Given the description of an element on the screen output the (x, y) to click on. 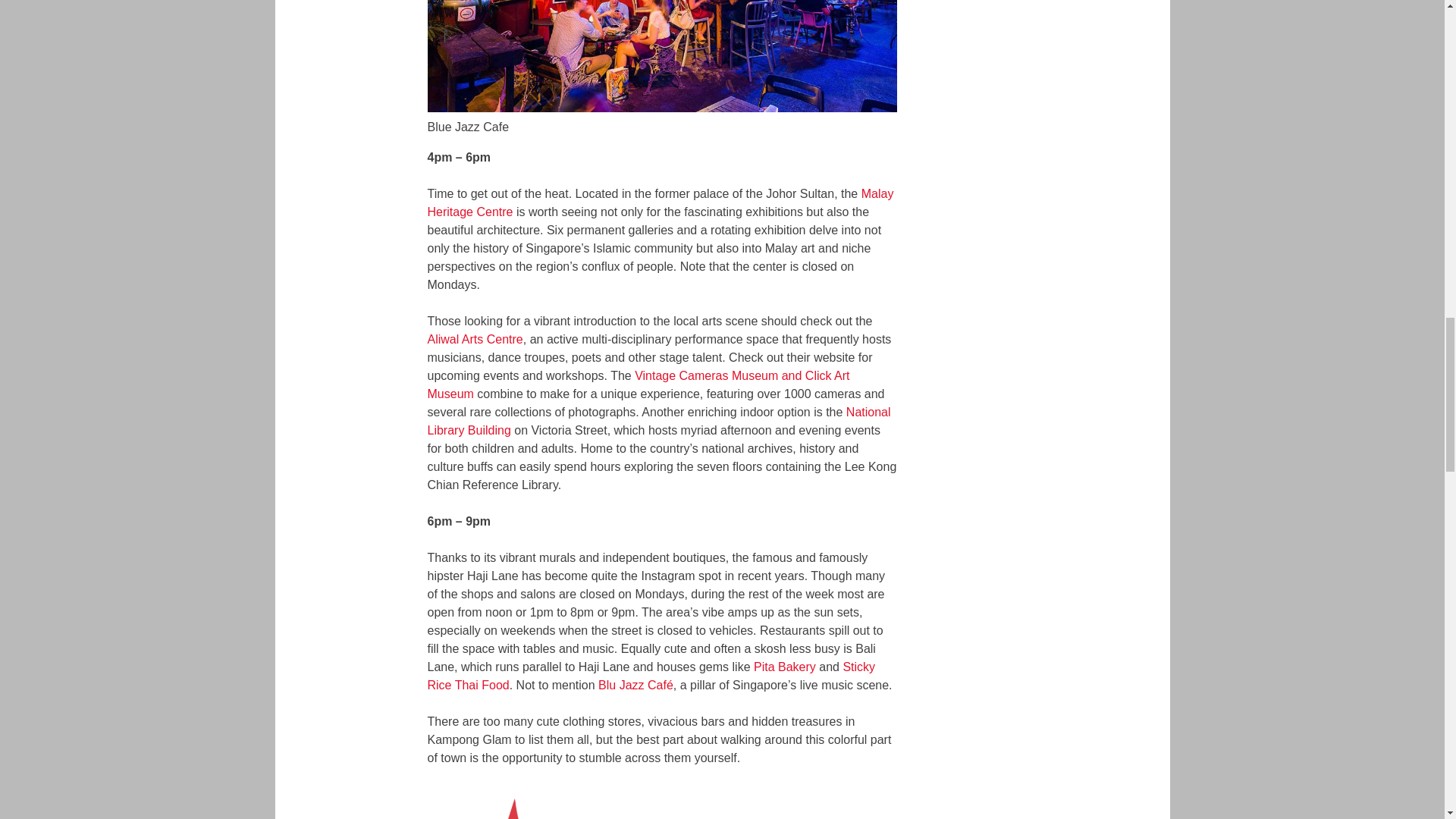
Vintage Cameras Museum and Click Art Museum (639, 384)
Malay Heritage Centre (660, 202)
Aliwal Arts Centre (475, 338)
Sticky Rice Thai Food (652, 675)
National Library Building (659, 420)
Pita Bakery (784, 666)
